Given the description of an element on the screen output the (x, y) to click on. 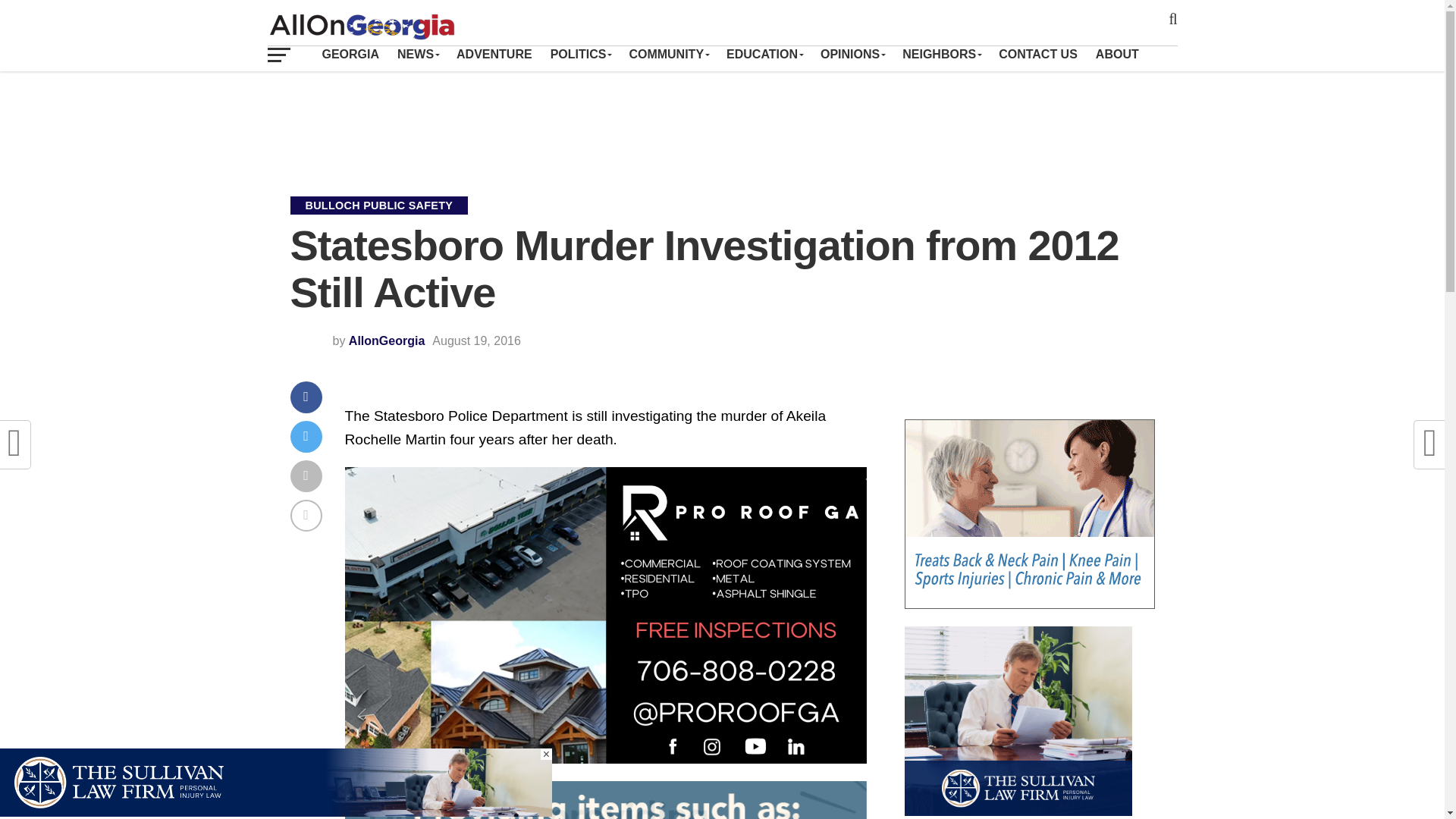
Posts by AllonGeorgia (387, 340)
close (545, 754)
NEWS (417, 54)
GEORGIA (350, 54)
POLITICS (580, 54)
ADVENTURE (493, 54)
